Given the description of an element on the screen output the (x, y) to click on. 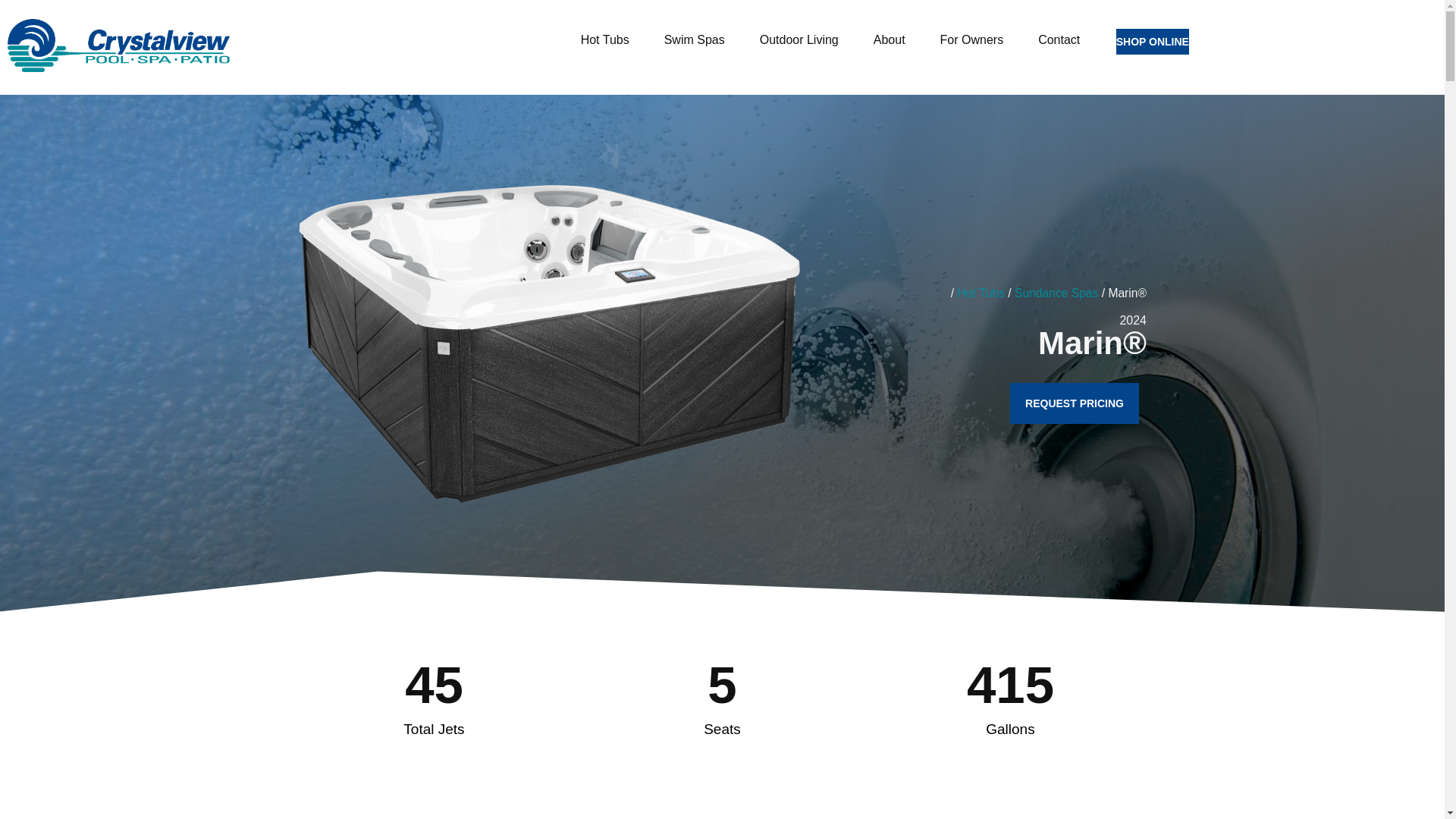
crystal-view-logo (118, 45)
Contact (1059, 39)
For Owners (975, 39)
About (893, 39)
Hot Tubs (608, 39)
Outdoor Living (802, 39)
Swim Spas (697, 39)
